Given the description of an element on the screen output the (x, y) to click on. 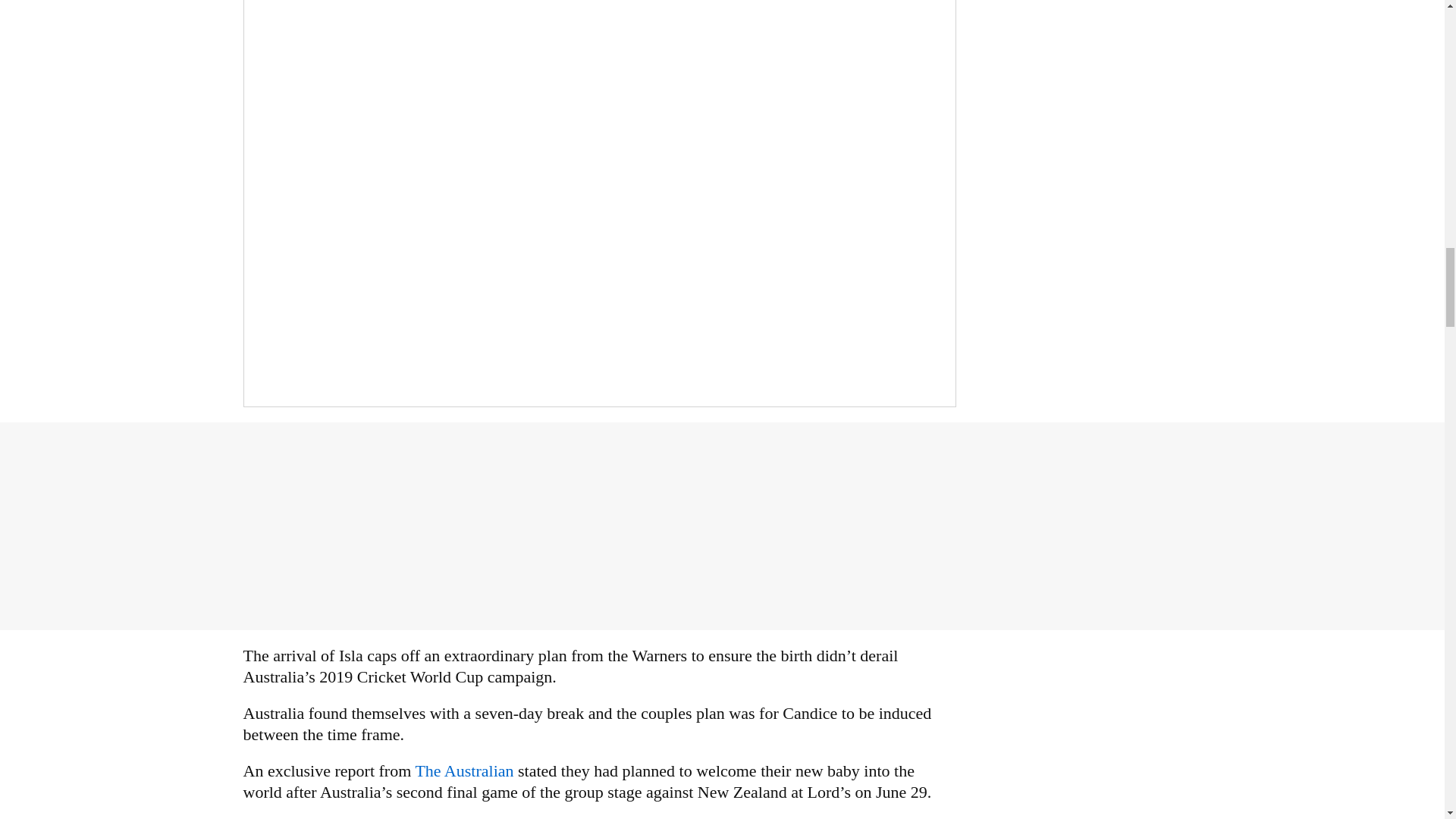
The Australian (466, 770)
